Given the description of an element on the screen output the (x, y) to click on. 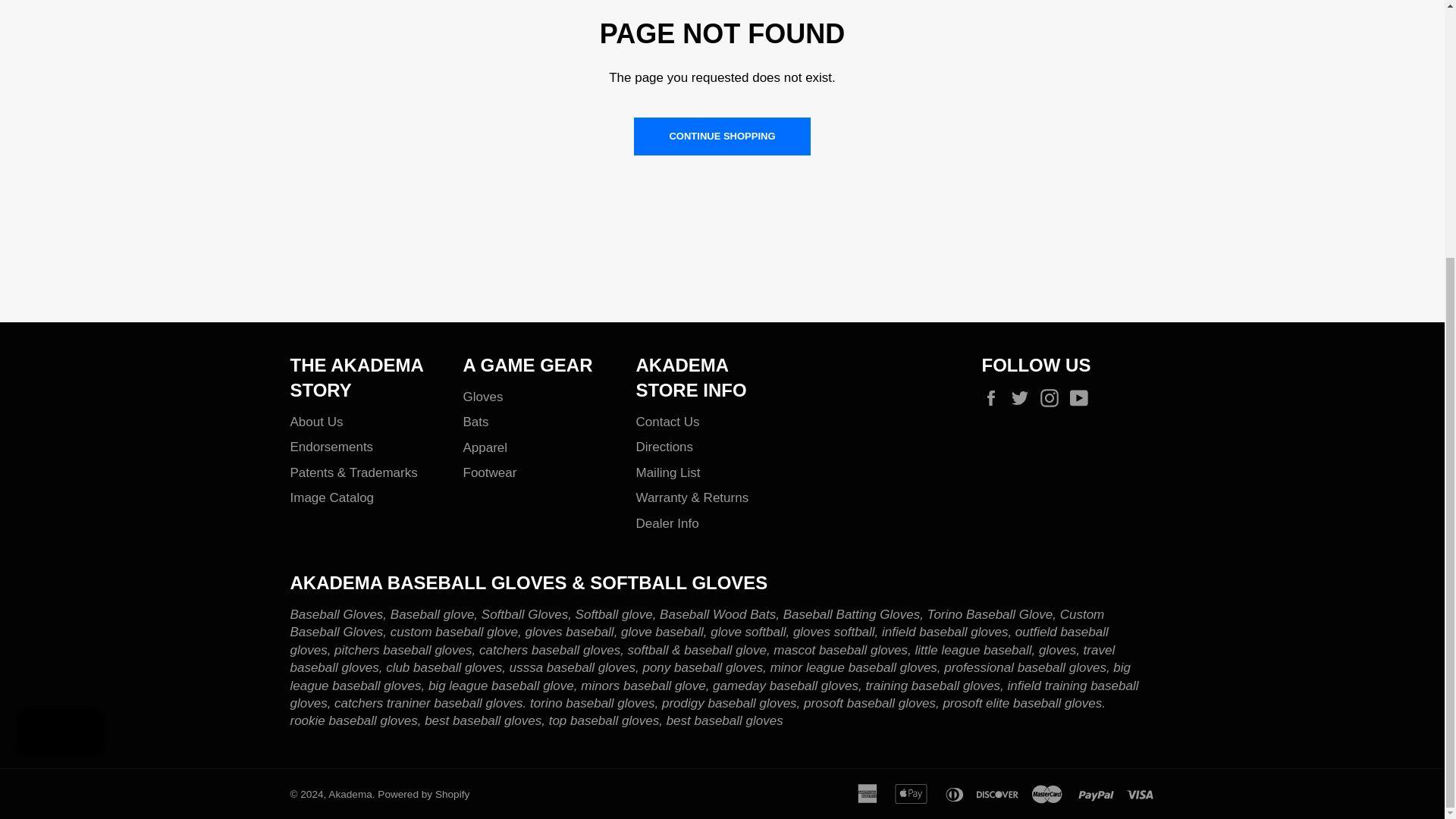
Akadema on YouTube (1083, 397)
Shopify online store chat (60, 365)
Akadema on Twitter (1023, 397)
Akadema on Facebook (994, 397)
Akadema on Instagram (1053, 397)
